Given the description of an element on the screen output the (x, y) to click on. 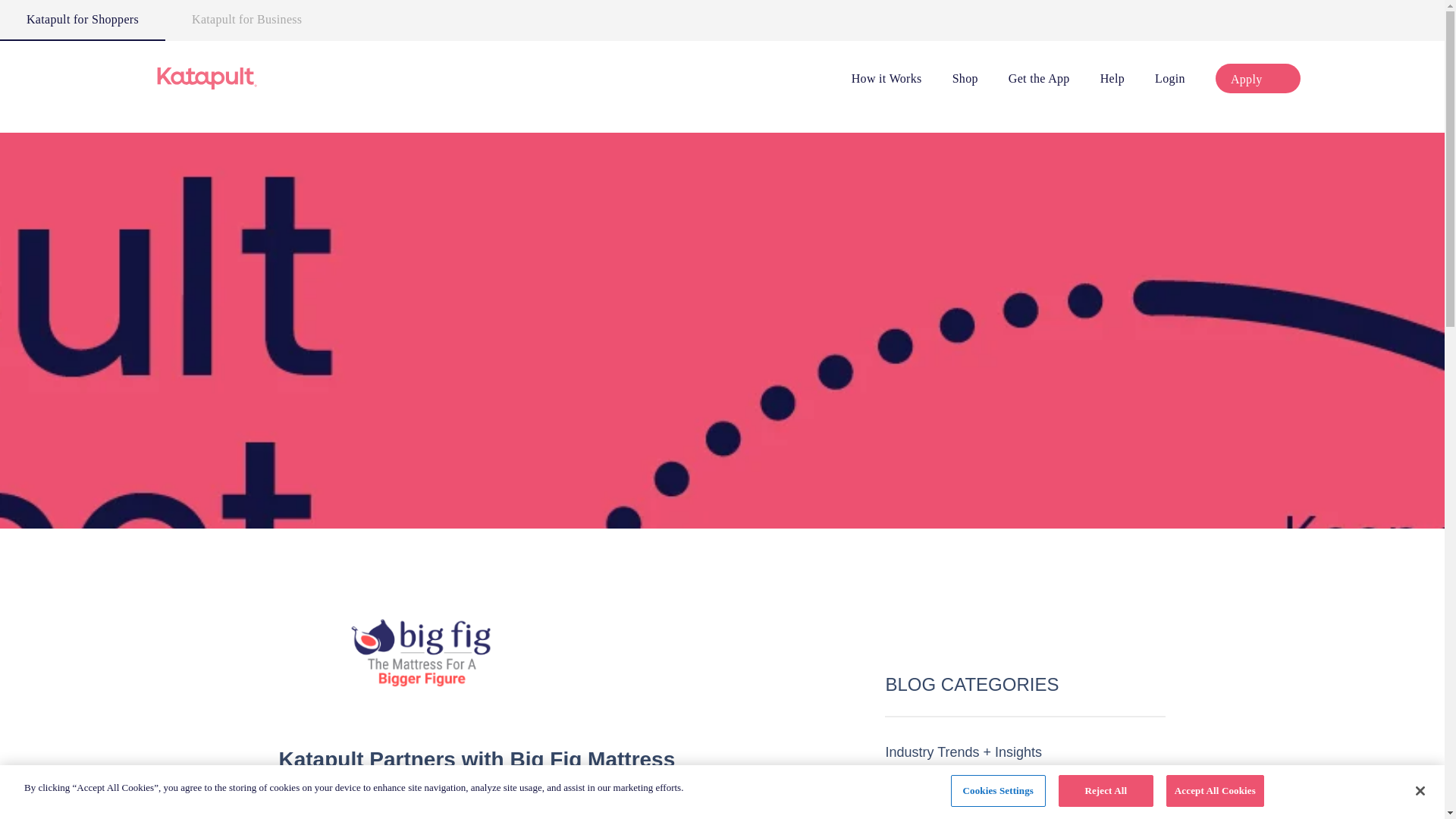
Apply (1257, 78)
Katapult for Business (247, 20)
Get the App (1039, 77)
Katapult for Shoppers (82, 20)
Katapult News (928, 776)
Partner Spotlight (936, 800)
Big-Fig-Bb (421, 675)
Login (1169, 77)
Help (1112, 77)
Shop (965, 77)
How it Works (886, 77)
Retailer Spotlight (936, 818)
